Given the description of an element on the screen output the (x, y) to click on. 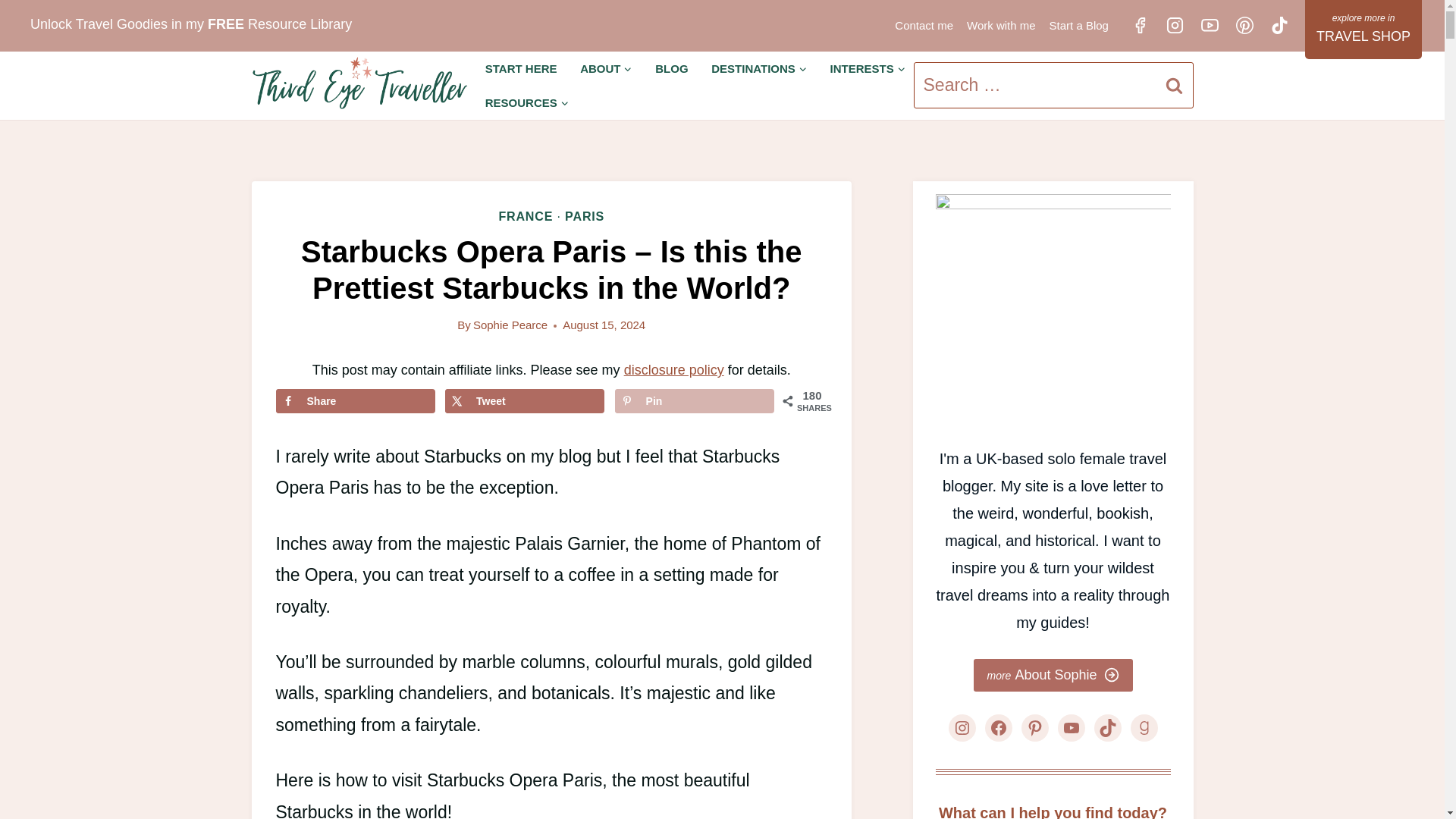
Work with me (1000, 25)
START HERE (520, 68)
BLOG (671, 68)
Start a Blog (1078, 25)
Unlock Travel Goodies in my FREE Resource Library (191, 23)
DESTINATIONS (759, 68)
Share on Facebook (355, 400)
ABOUT (606, 68)
TRAVEL SHOP (1363, 29)
Contact me (923, 25)
